Given the description of an element on the screen output the (x, y) to click on. 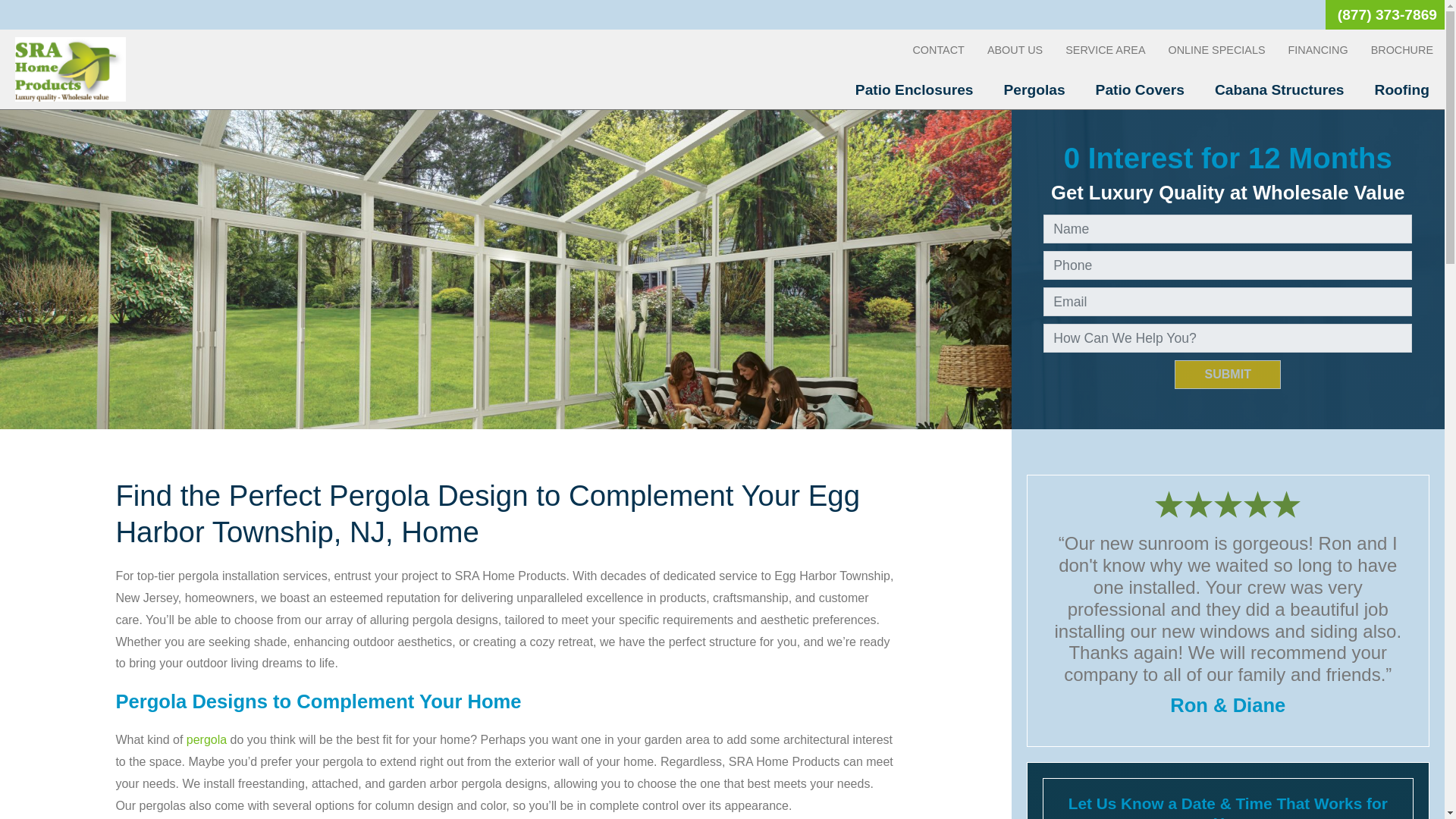
ABOUT US (1014, 50)
ONLINE SPECIALS (1216, 50)
SRA Home Products (69, 68)
FINANCING (1317, 50)
Cabana Structures (1279, 89)
Patio Enclosures (914, 89)
Pergolas (1034, 89)
SUBMIT (1227, 374)
CONTACT (938, 50)
Patio Covers (1139, 89)
pergola (206, 739)
SERVICE AREA (1105, 50)
